Given the description of an element on the screen output the (x, y) to click on. 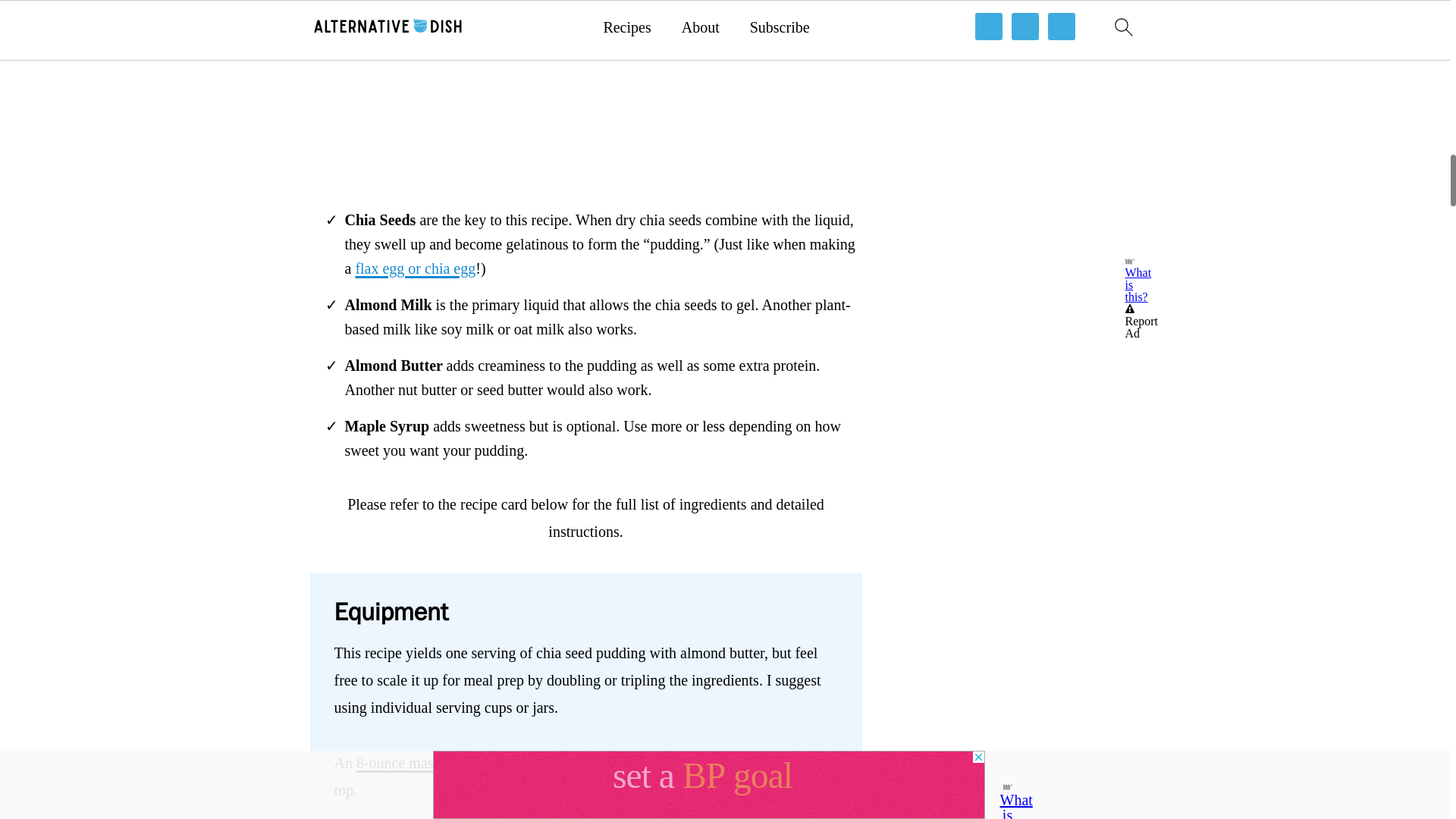
3rd party ad content (1026, 56)
